Given the description of an element on the screen output the (x, y) to click on. 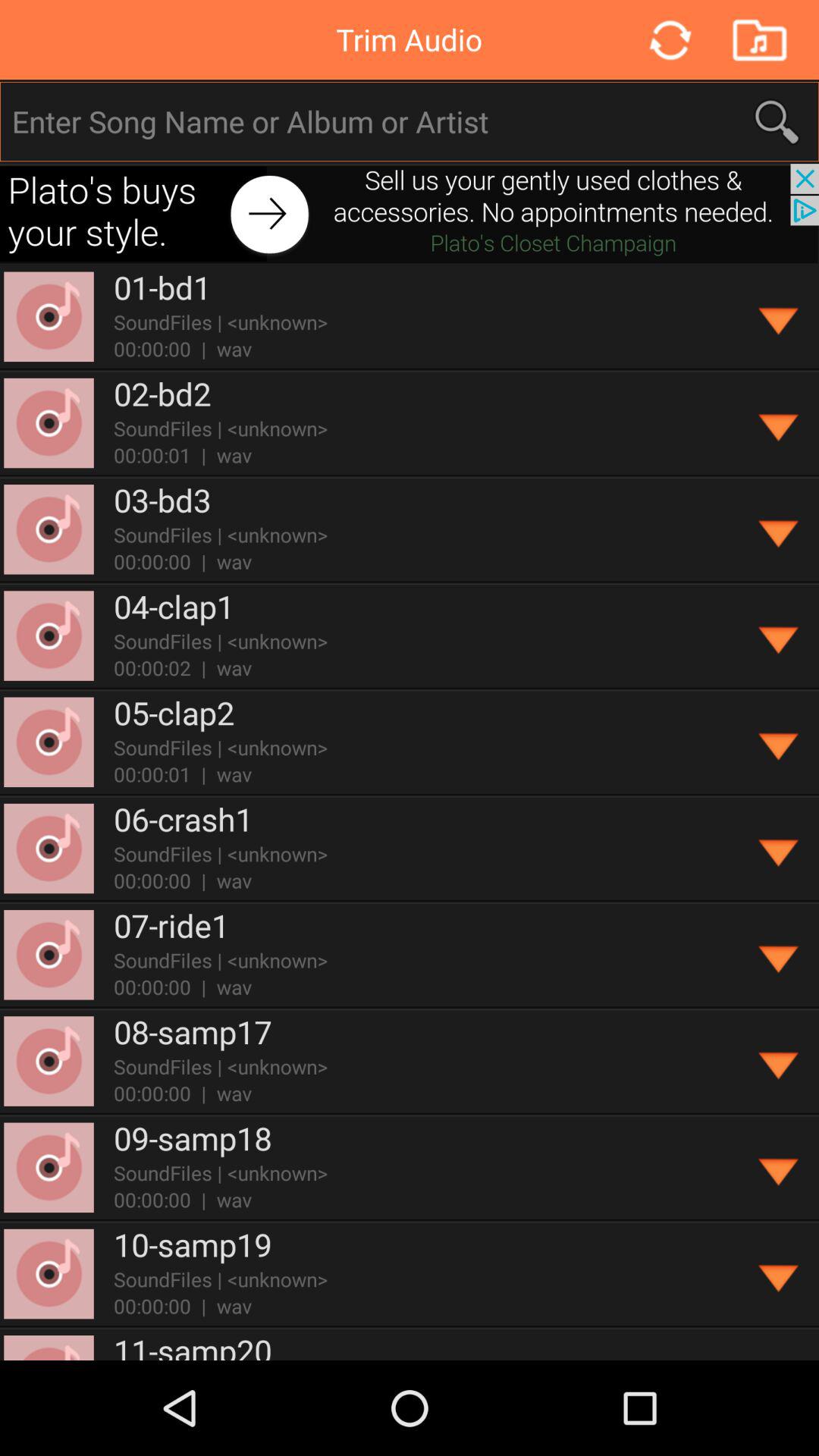
plato 's buys your style icon (409, 213)
